Given the description of an element on the screen output the (x, y) to click on. 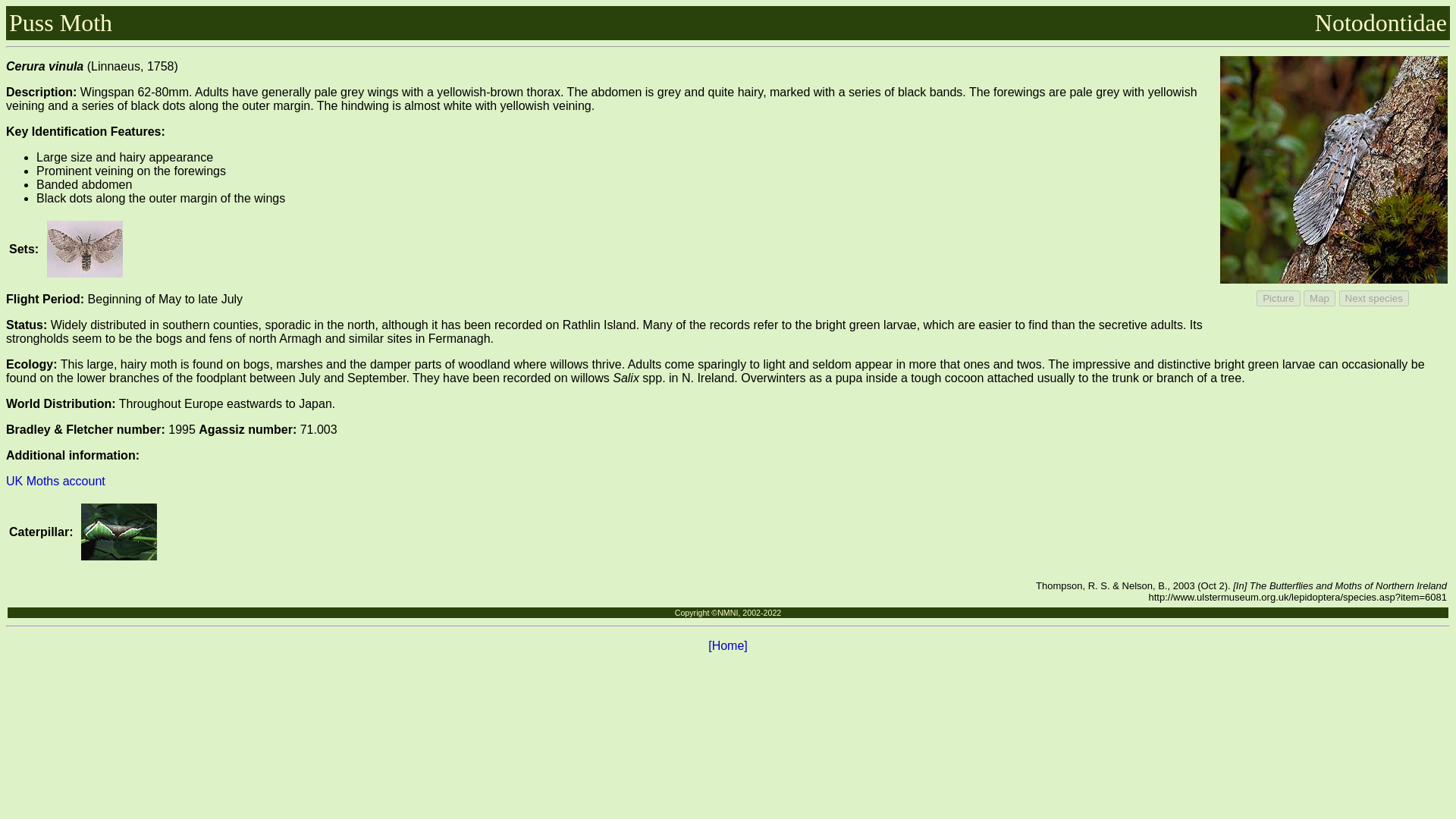
UK Moths account (54, 481)
Notodontidae (1380, 22)
Map (1319, 298)
Next species (1374, 298)
Picture (1278, 298)
